Given the description of an element on the screen output the (x, y) to click on. 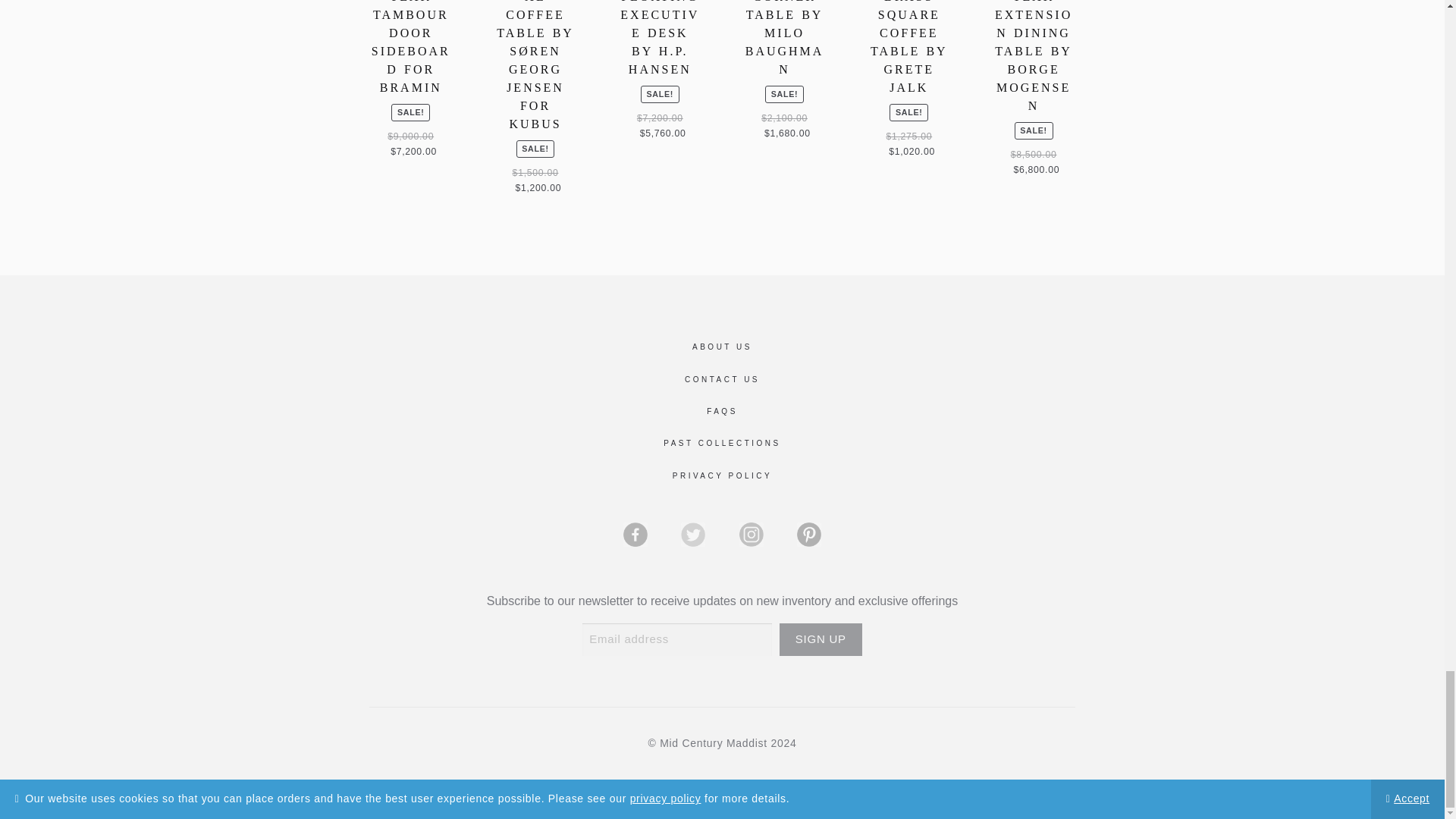
Sign up (819, 639)
